Given the description of an element on the screen output the (x, y) to click on. 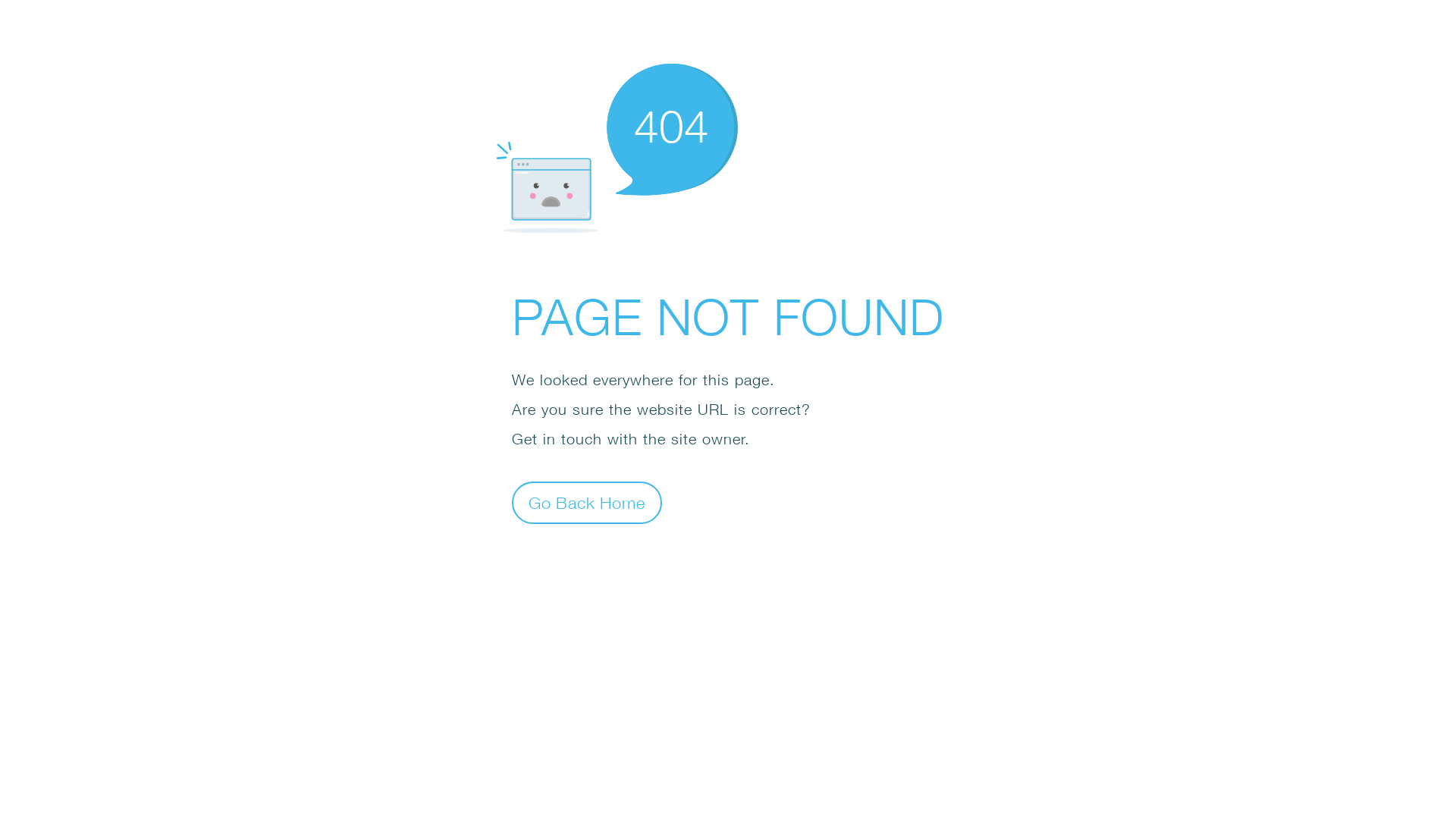
Go Back Home Element type: text (586, 502)
